Given the description of an element on the screen output the (x, y) to click on. 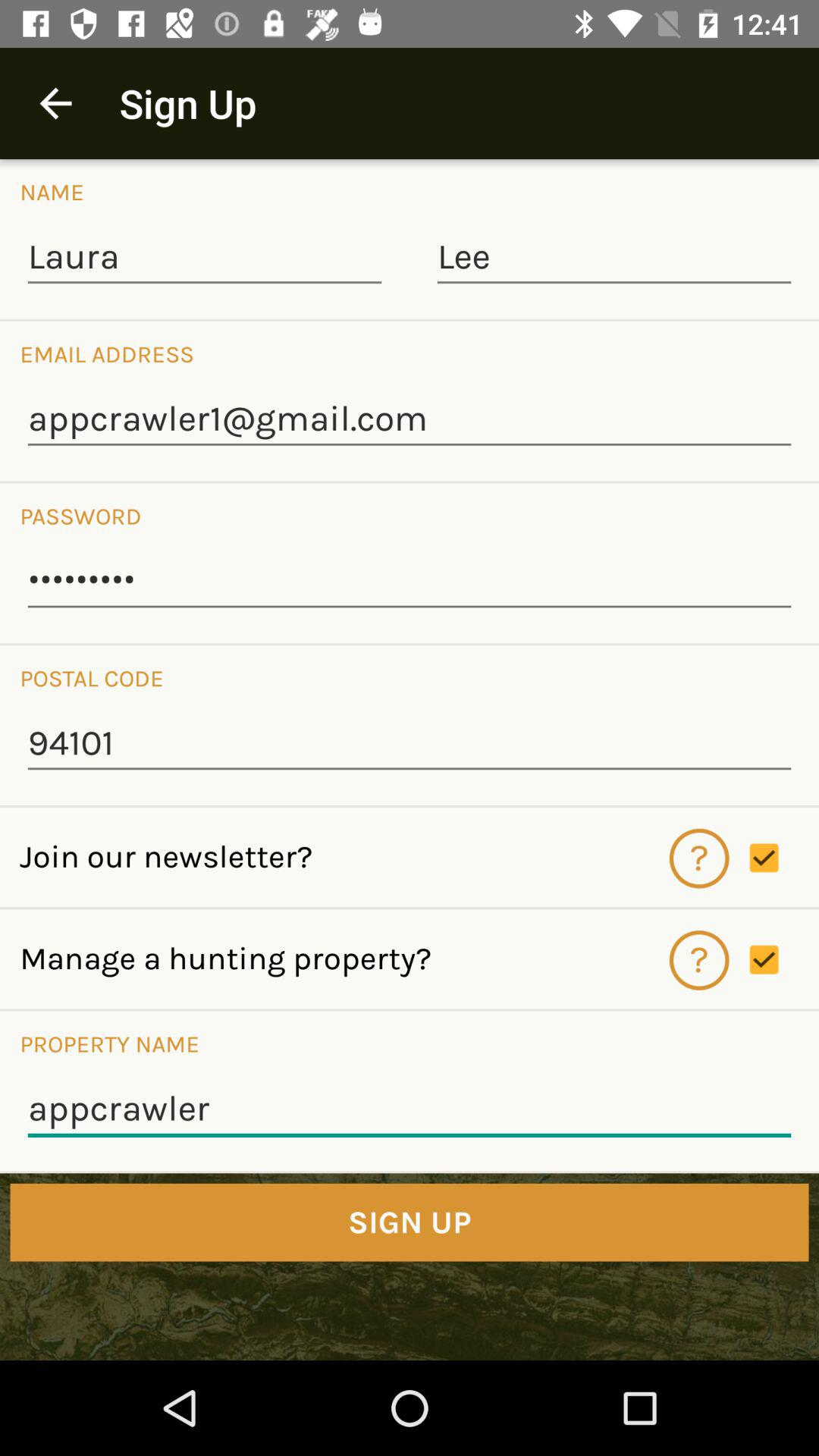
turn off the icon below the property name icon (409, 1109)
